Given the description of an element on the screen output the (x, y) to click on. 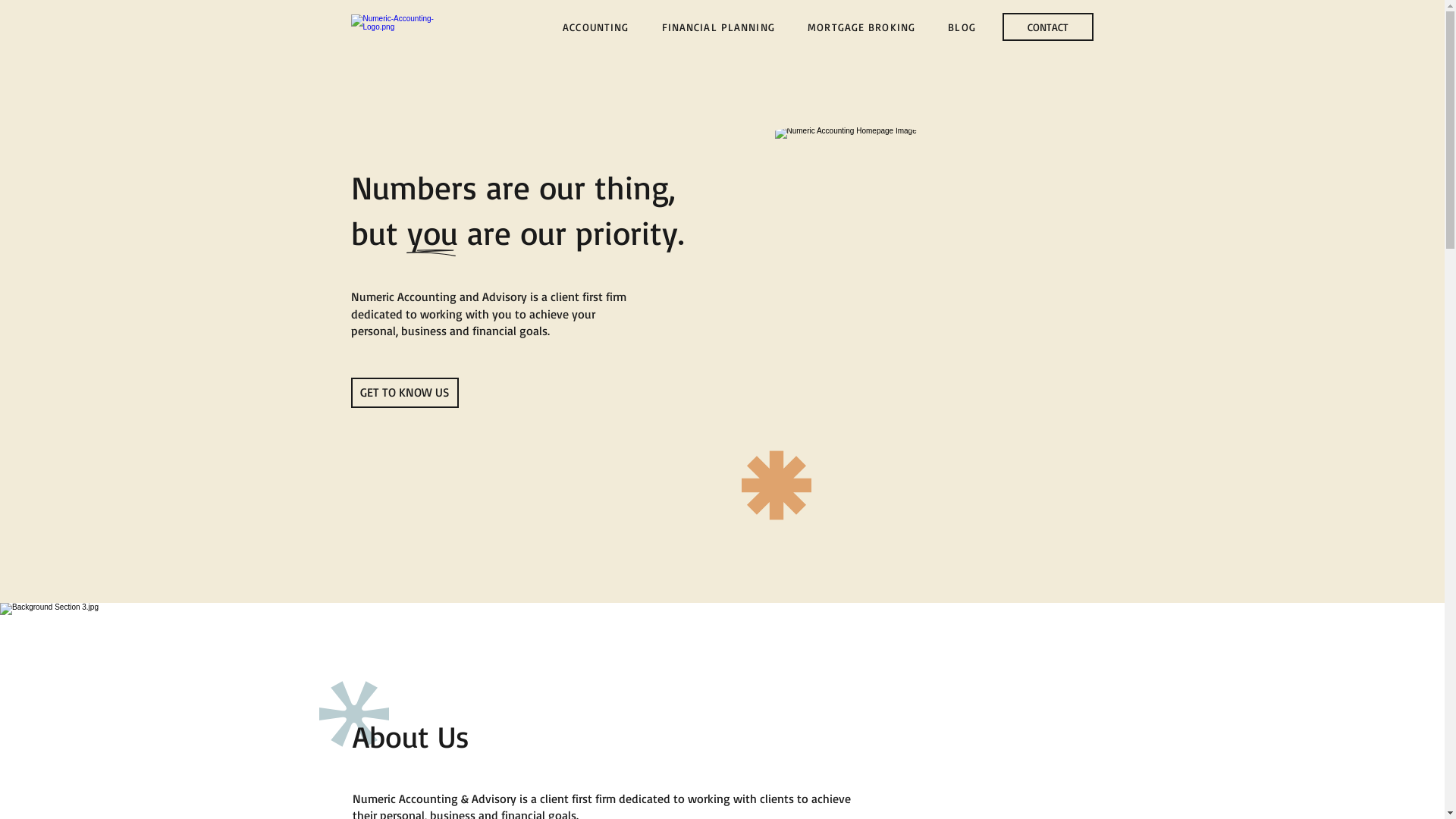
FINANCIAL PLANNING Element type: text (717, 26)
BLOG Element type: text (962, 26)
MORTGAGE BROKING Element type: text (860, 26)
Home Element type: hover (397, 26)
GET TO KNOW US Element type: text (404, 392)
CONTACT Element type: text (1047, 26)
ACCOUNTING Element type: text (595, 26)
